Given the description of an element on the screen output the (x, y) to click on. 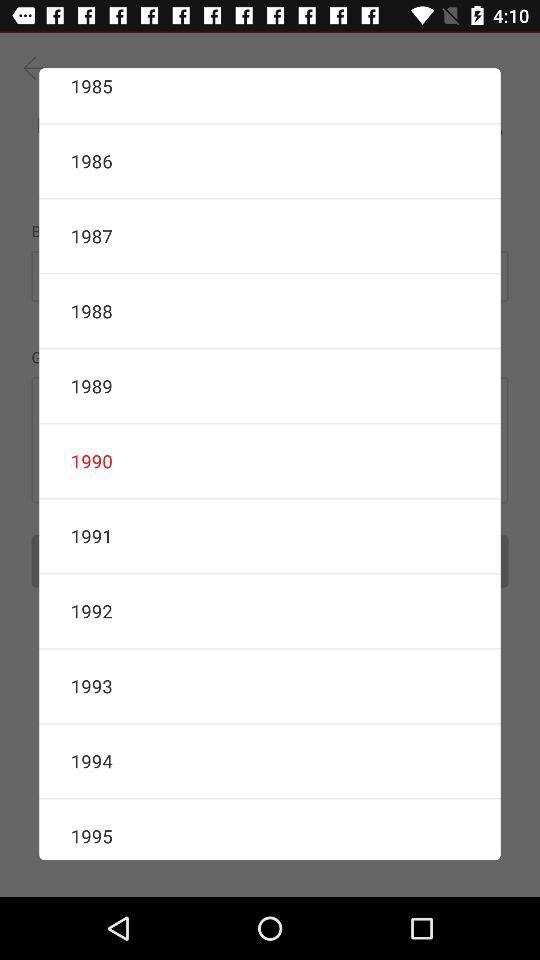
press the item below 1992 item (269, 686)
